Given the description of an element on the screen output the (x, y) to click on. 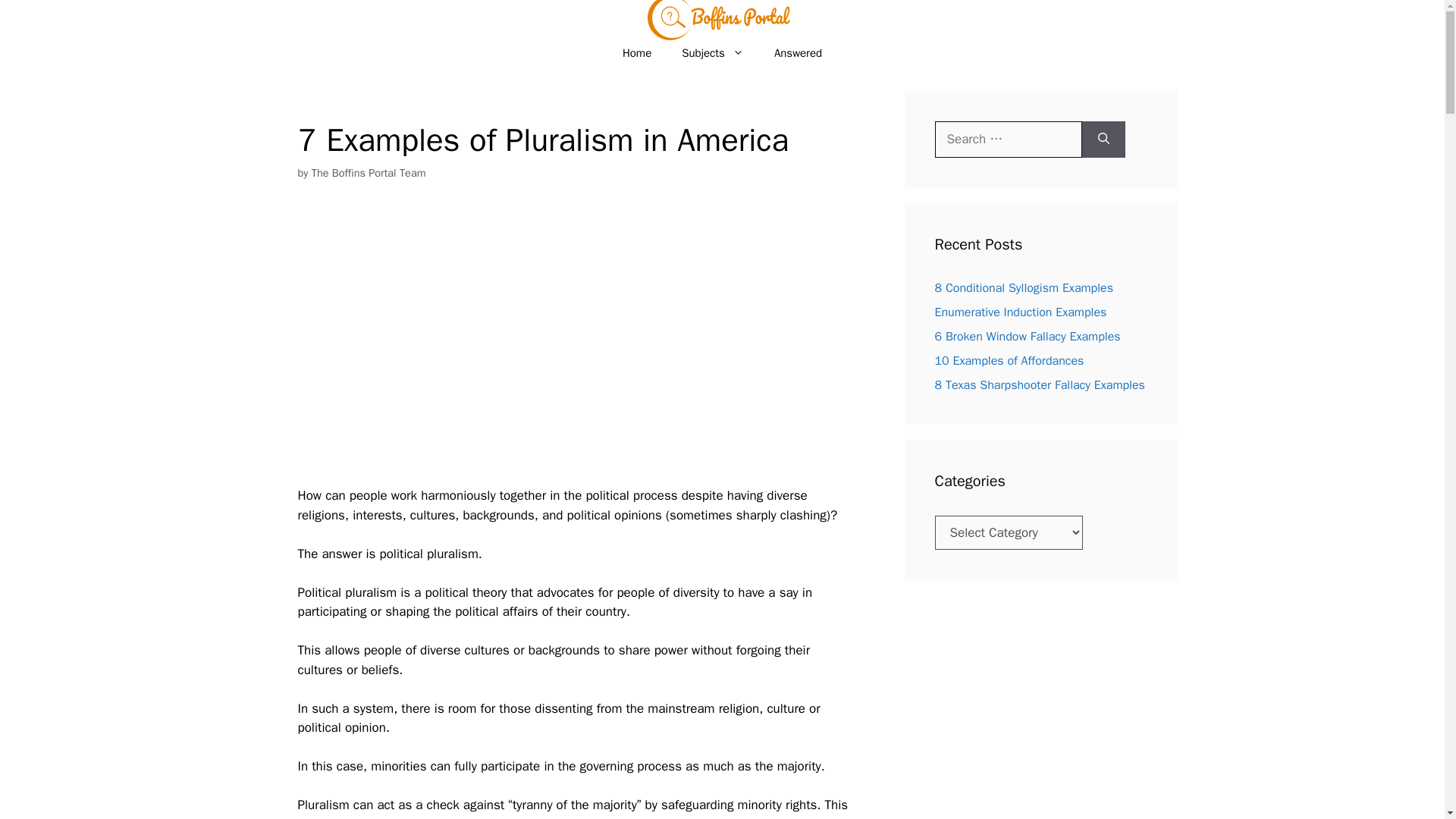
8 Conditional Syllogism Examples (1023, 287)
Subjects (712, 53)
8 Texas Sharpshooter Fallacy Examples (1039, 385)
Enumerative Induction Examples (1020, 312)
Search for: (1007, 139)
The Boffins Portal Team (368, 172)
View all posts by The Boffins Portal Team (368, 172)
10 Examples of Affordances (1008, 360)
6 Broken Window Fallacy Examples (1026, 336)
The Boffins Portal (721, 27)
